Given the description of an element on the screen output the (x, y) to click on. 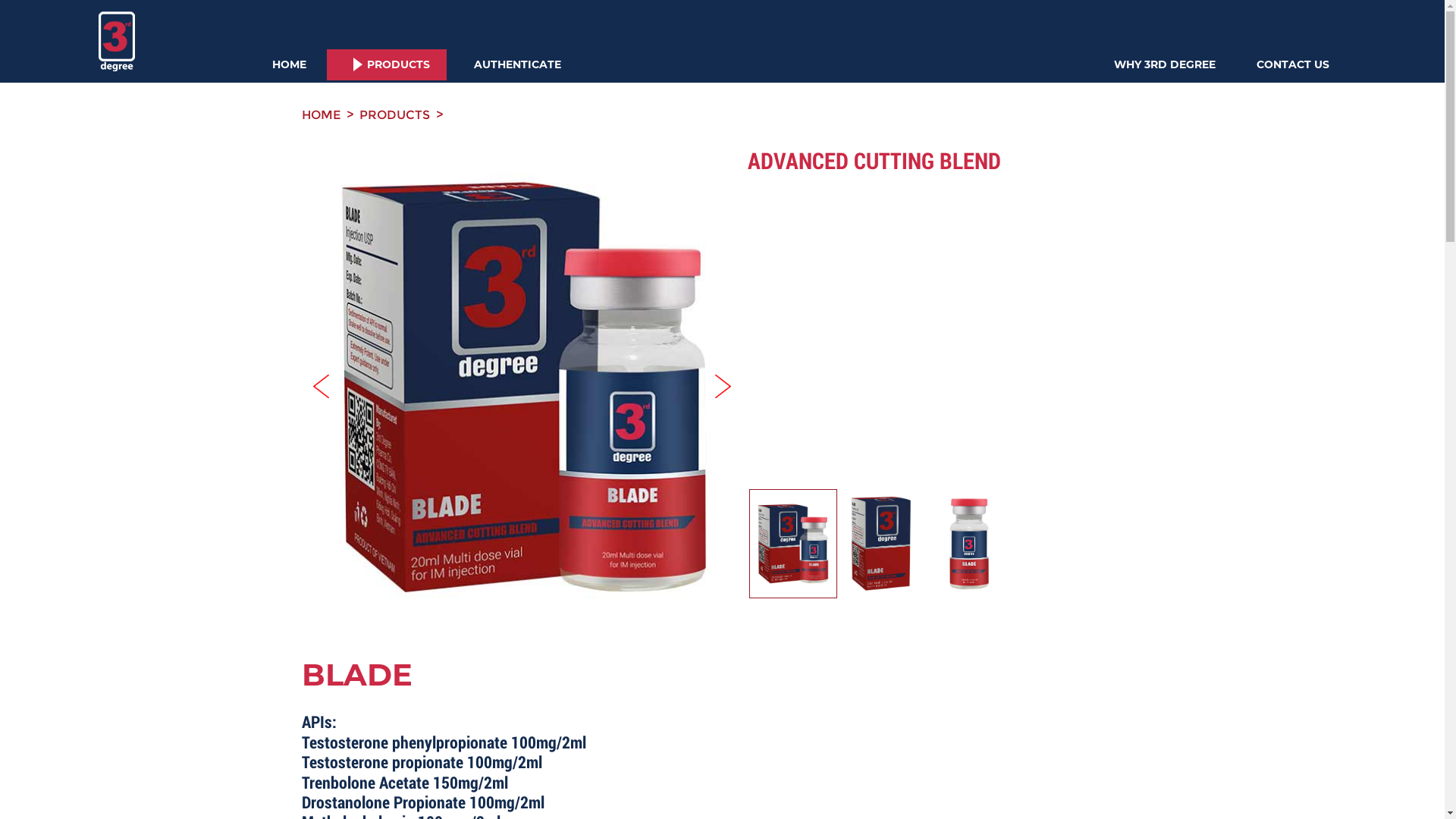
HOME Element type: text (289, 64)
PRODUCTS Element type: text (390, 64)
WHY 3RD DEGREE Element type: text (1164, 64)
CONTACT US Element type: text (1292, 64)
HOME Element type: text (320, 114)
PRODUCTS Element type: text (394, 114)
AUTHENTICATE Element type: text (517, 64)
